Given the description of an element on the screen output the (x, y) to click on. 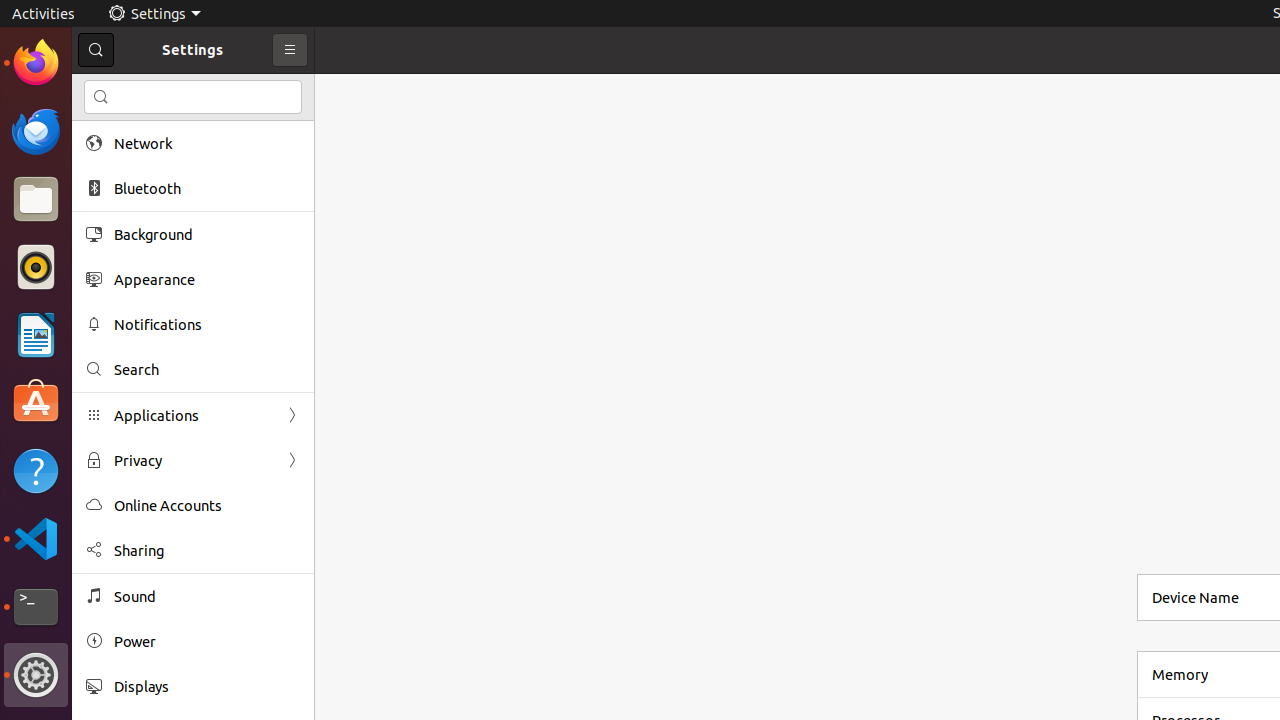
Search Element type: text (193, 97)
Search Element type: label (207, 369)
Displays Element type: label (207, 686)
Appearance Element type: label (207, 279)
